Given the description of an element on the screen output the (x, y) to click on. 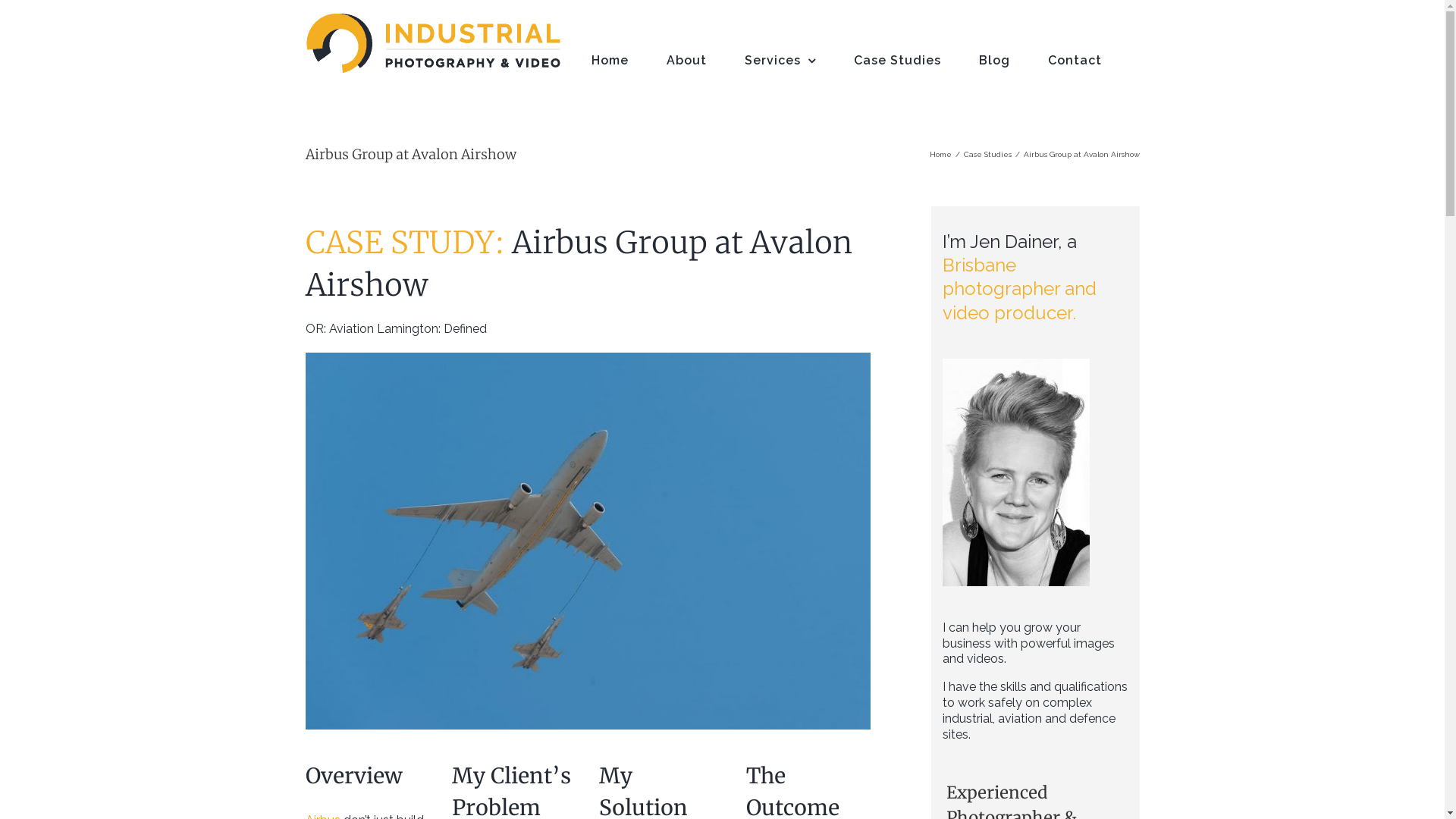
Home Element type: text (940, 154)
Case Studies Element type: text (986, 154)
Contact Element type: text (1074, 60)
Blog Element type: text (993, 60)
About Element type: text (685, 60)
Services Element type: text (779, 60)
Aviation photography for Airbus at the Avalon Airshow_004 Element type: hover (586, 540)
Home Element type: text (609, 60)
Case Studies Element type: text (897, 60)
